Given the description of an element on the screen output the (x, y) to click on. 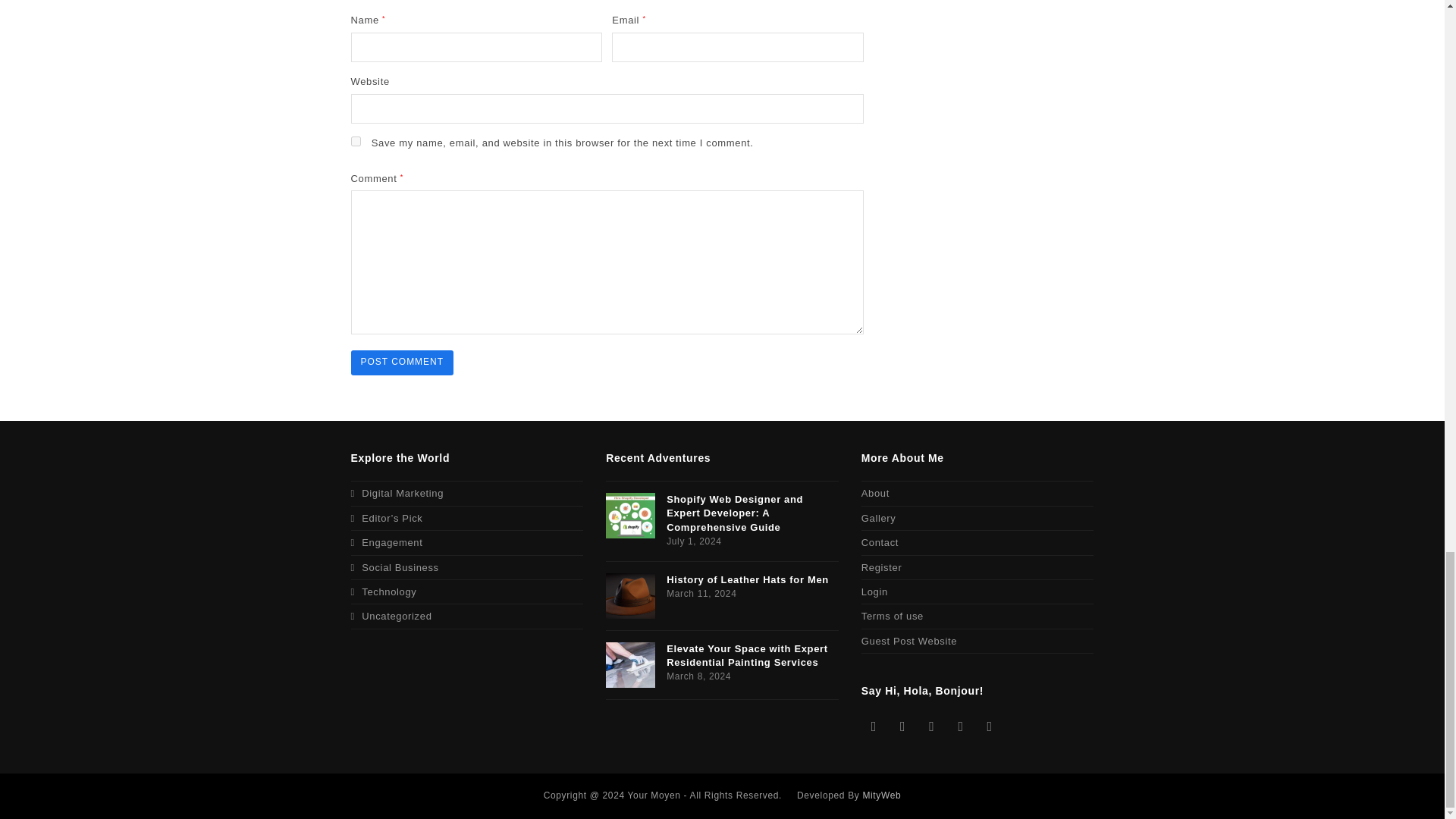
Post Comment (401, 362)
yes (354, 141)
